Given the description of an element on the screen output the (x, y) to click on. 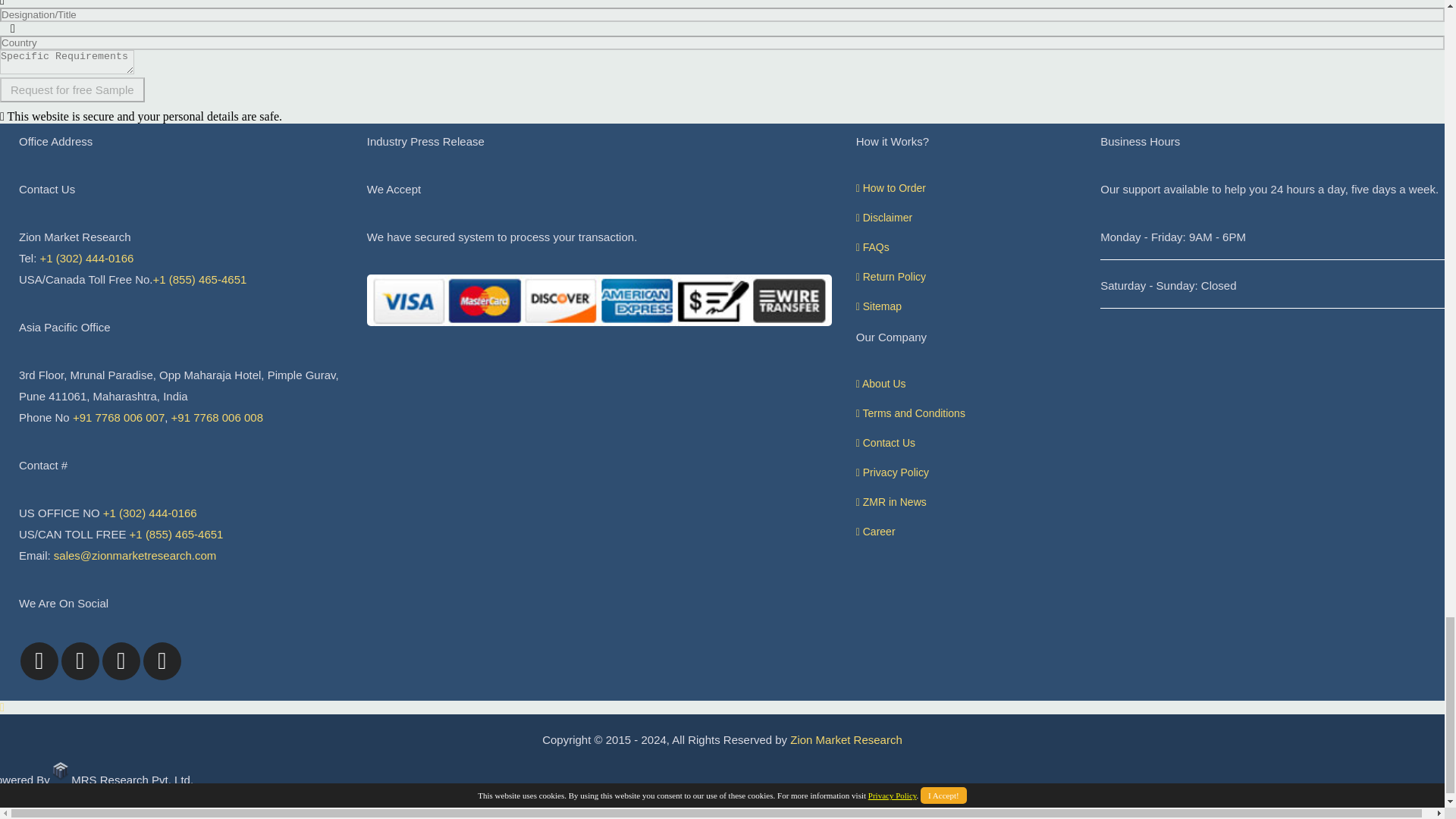
FAQs (872, 246)
How to Order (891, 187)
Request for free Sample (72, 89)
Disclaimer (884, 217)
